Given the description of an element on the screen output the (x, y) to click on. 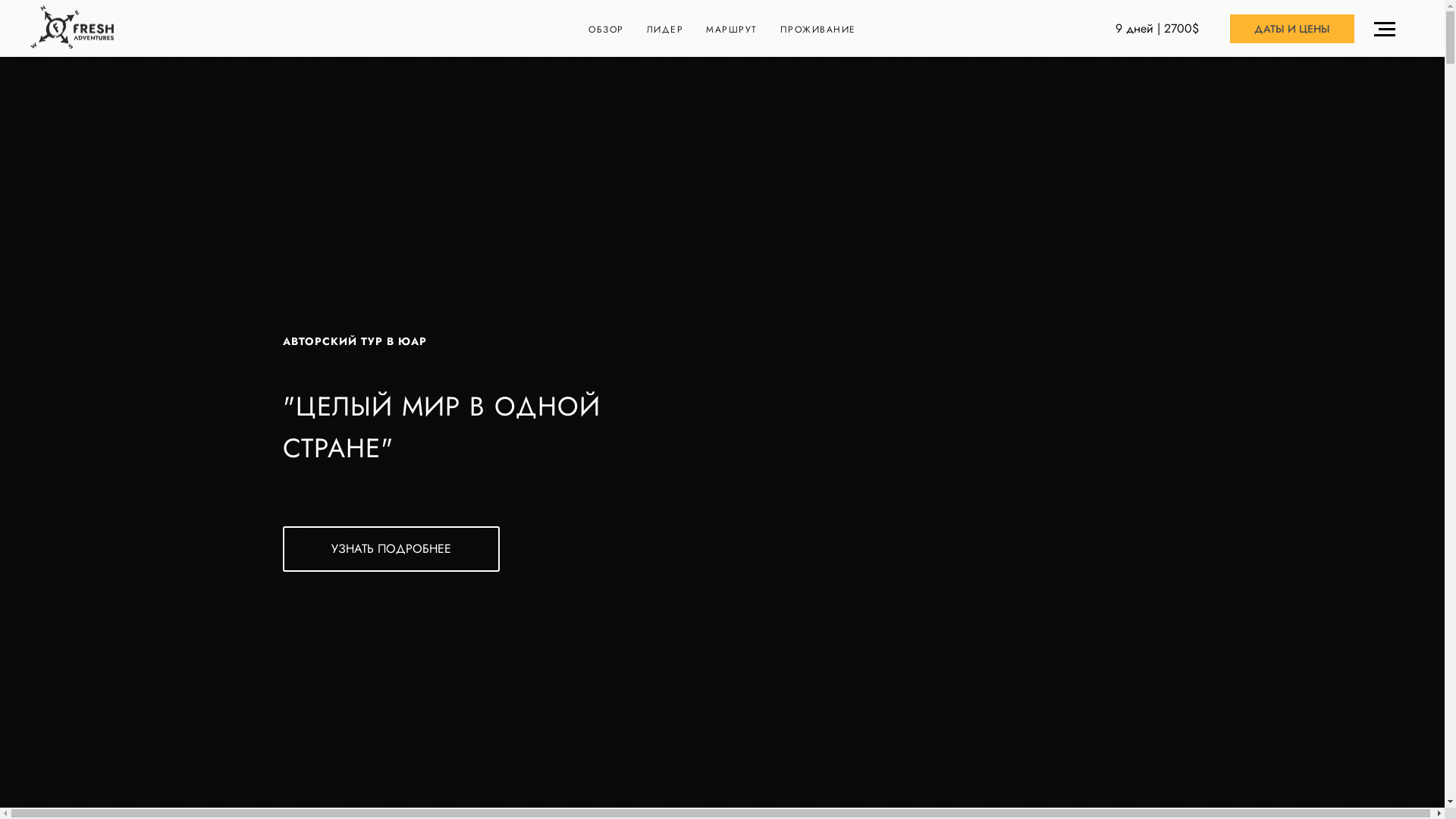
. Element type: text (1388, 28)
